Given the description of an element on the screen output the (x, y) to click on. 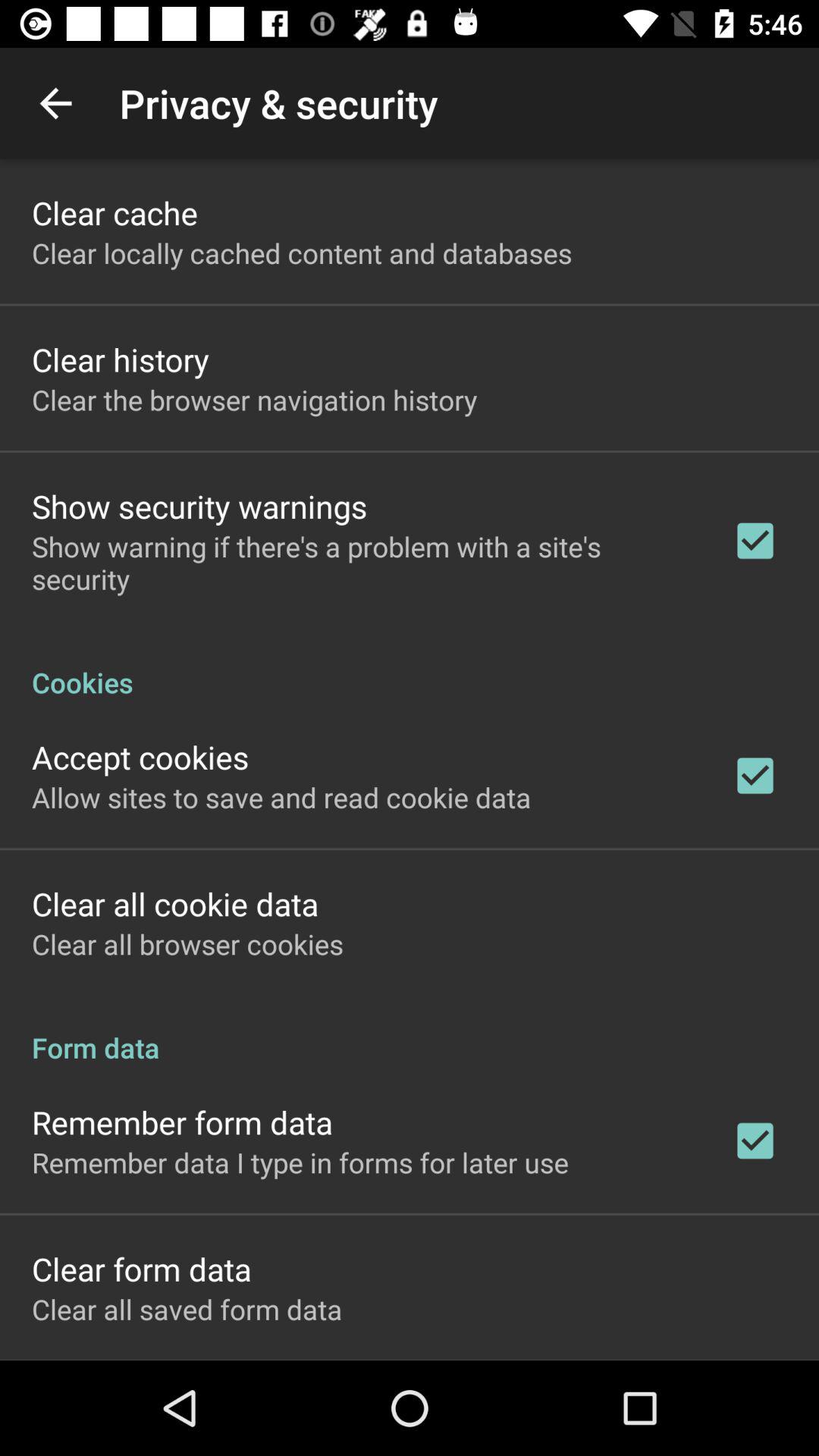
swipe to the allow sites to icon (281, 797)
